Given the description of an element on the screen output the (x, y) to click on. 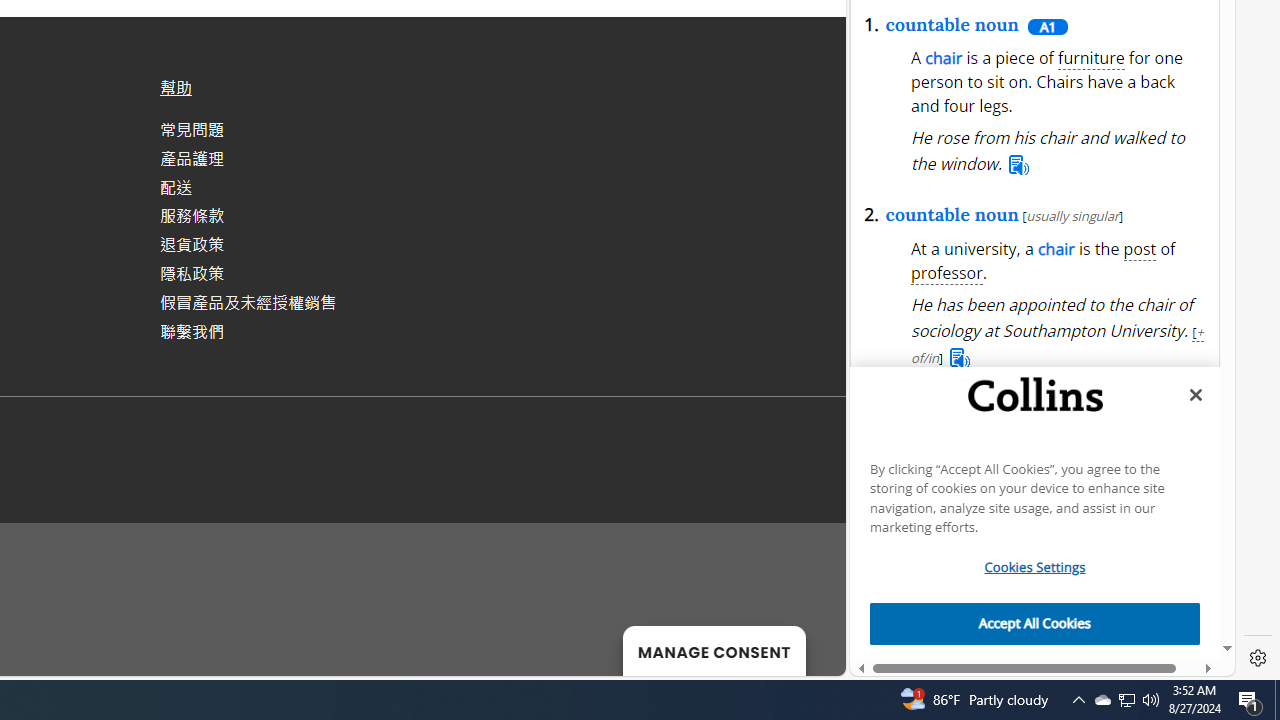
B2 (951, 653)
What does a chair mean? (1015, 433)
direct (1103, 125)
[+ of/in] (1057, 344)
Click to scroll right (1192, 532)
